Given the description of an element on the screen output the (x, y) to click on. 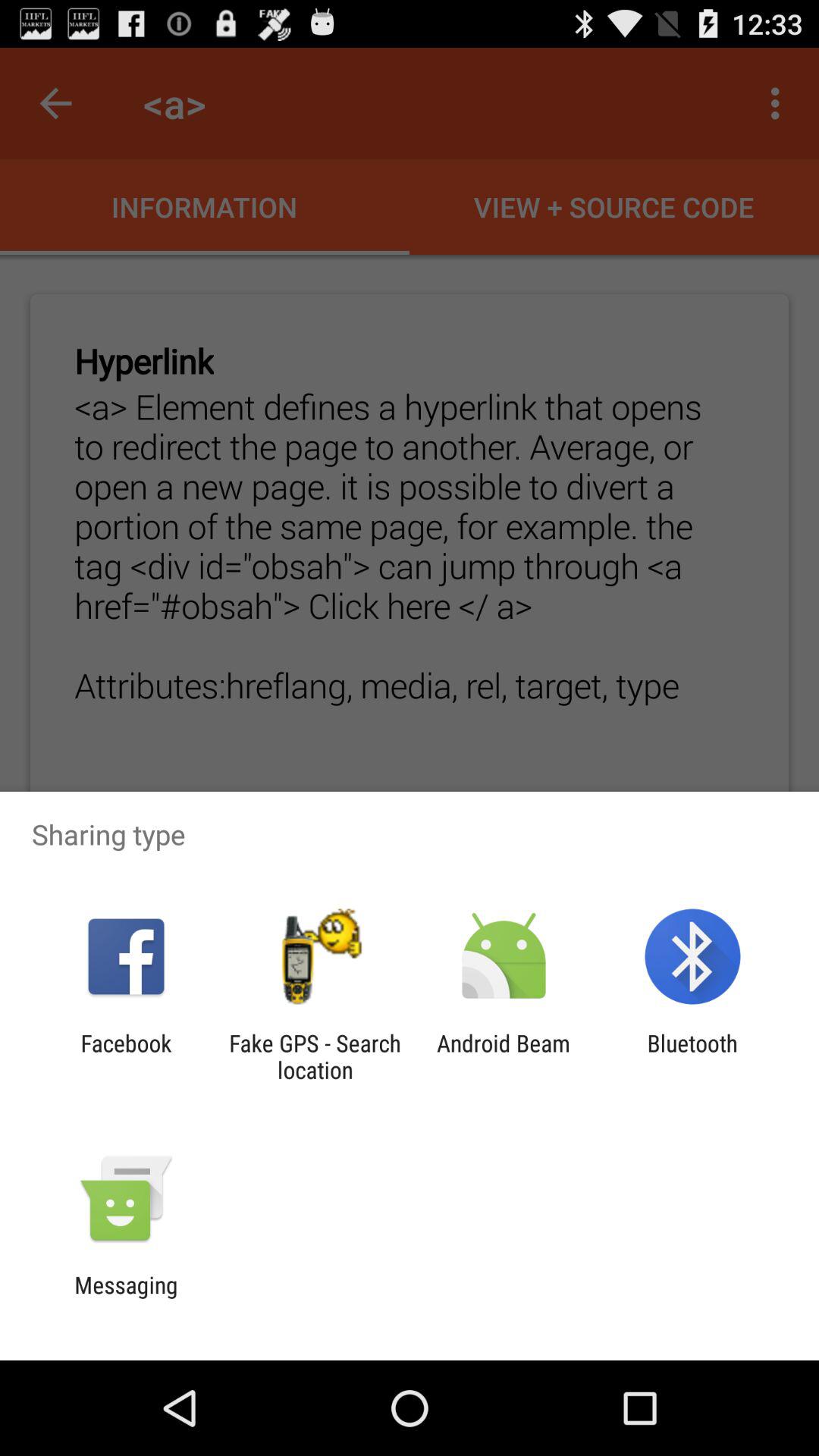
launch the facebook icon (125, 1056)
